Given the description of an element on the screen output the (x, y) to click on. 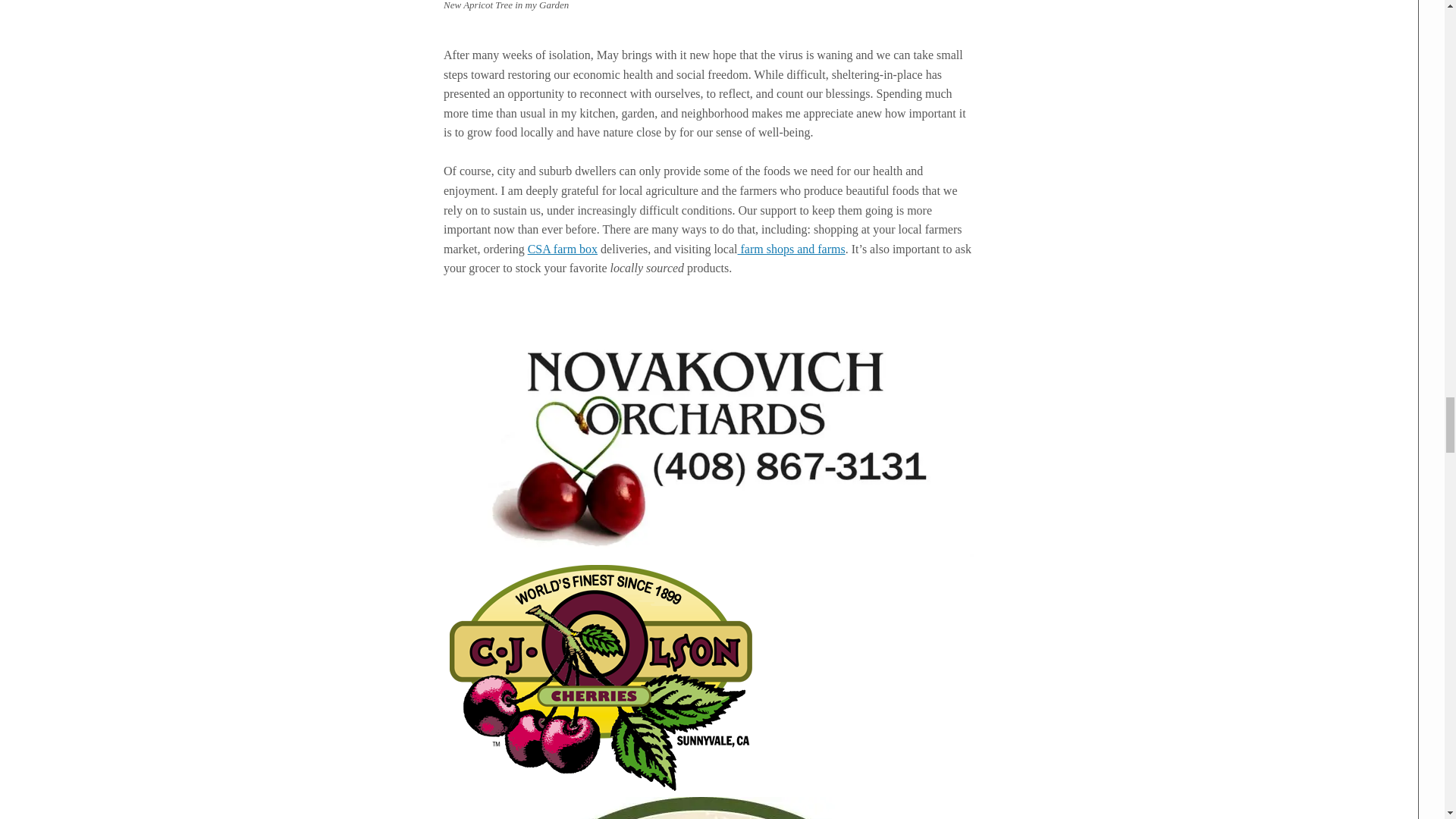
farm shops and farms (790, 248)
CSA farm box (561, 248)
